Given the description of an element on the screen output the (x, y) to click on. 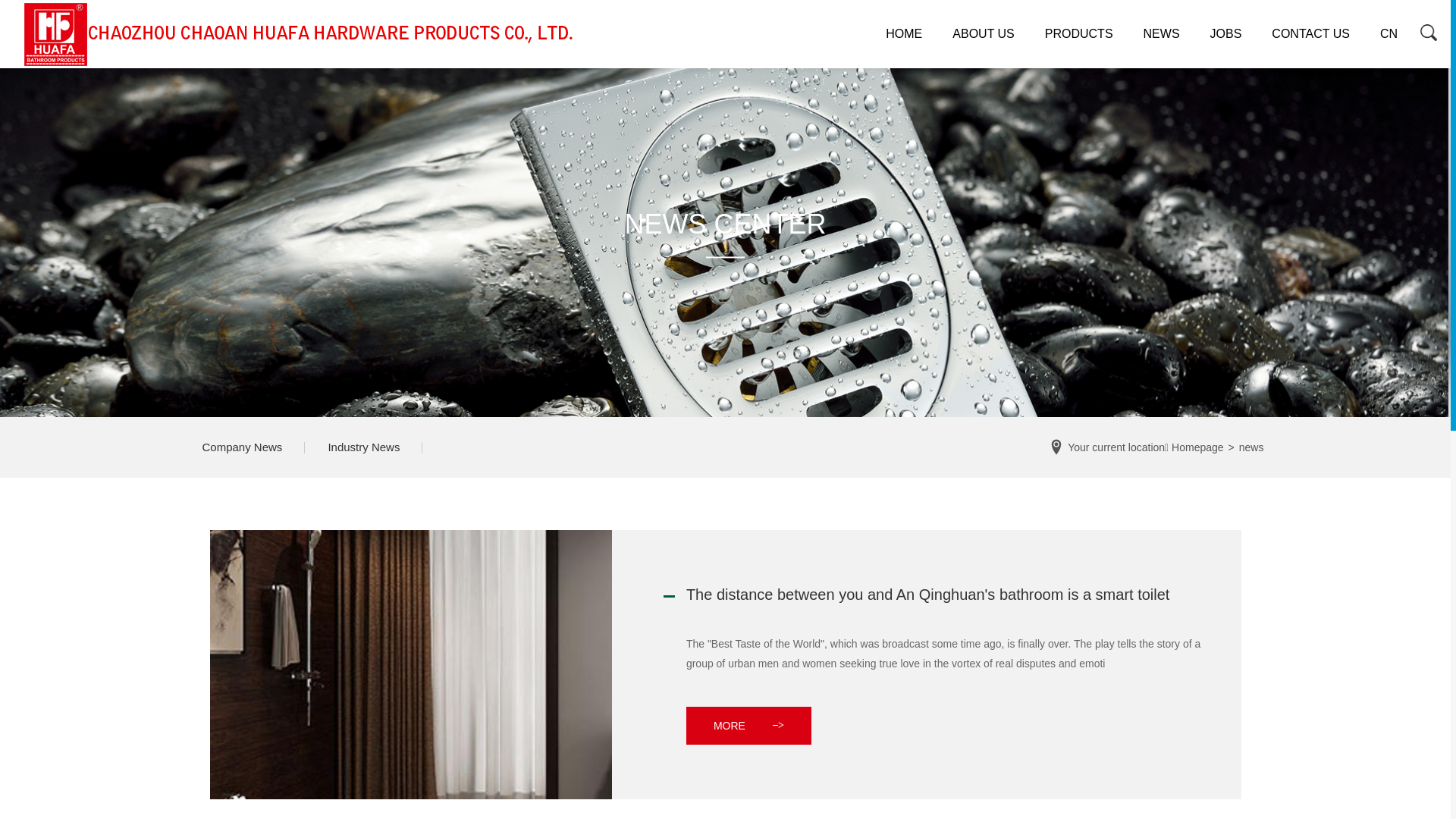
NEWS Element type: text (1161, 34)
Homepage Element type: text (1197, 447)
Company News Element type: text (241, 447)
Industry News Element type: text (363, 447)
HOME Element type: text (903, 34)
JOBS Element type: text (1226, 34)
PRODUCTS Element type: text (1078, 34)
hy Element type: hover (1431, 33)
CONTACT US Element type: text (1310, 34)
ABOUT US Element type: text (983, 34)
CN Element type: text (1388, 34)
